Given the description of an element on the screen output the (x, y) to click on. 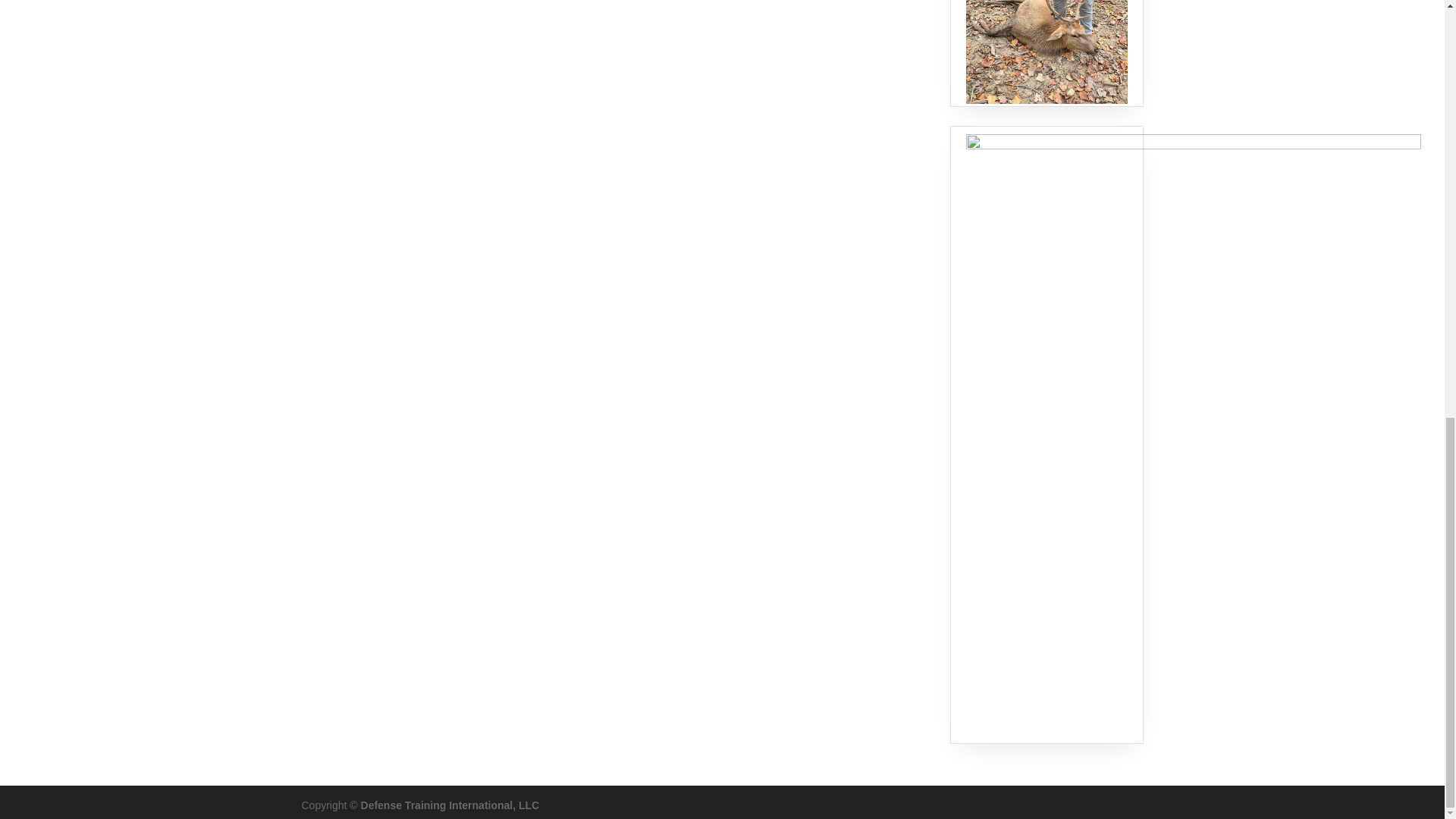
Defense Training International, LLC (449, 805)
